Given the description of an element on the screen output the (x, y) to click on. 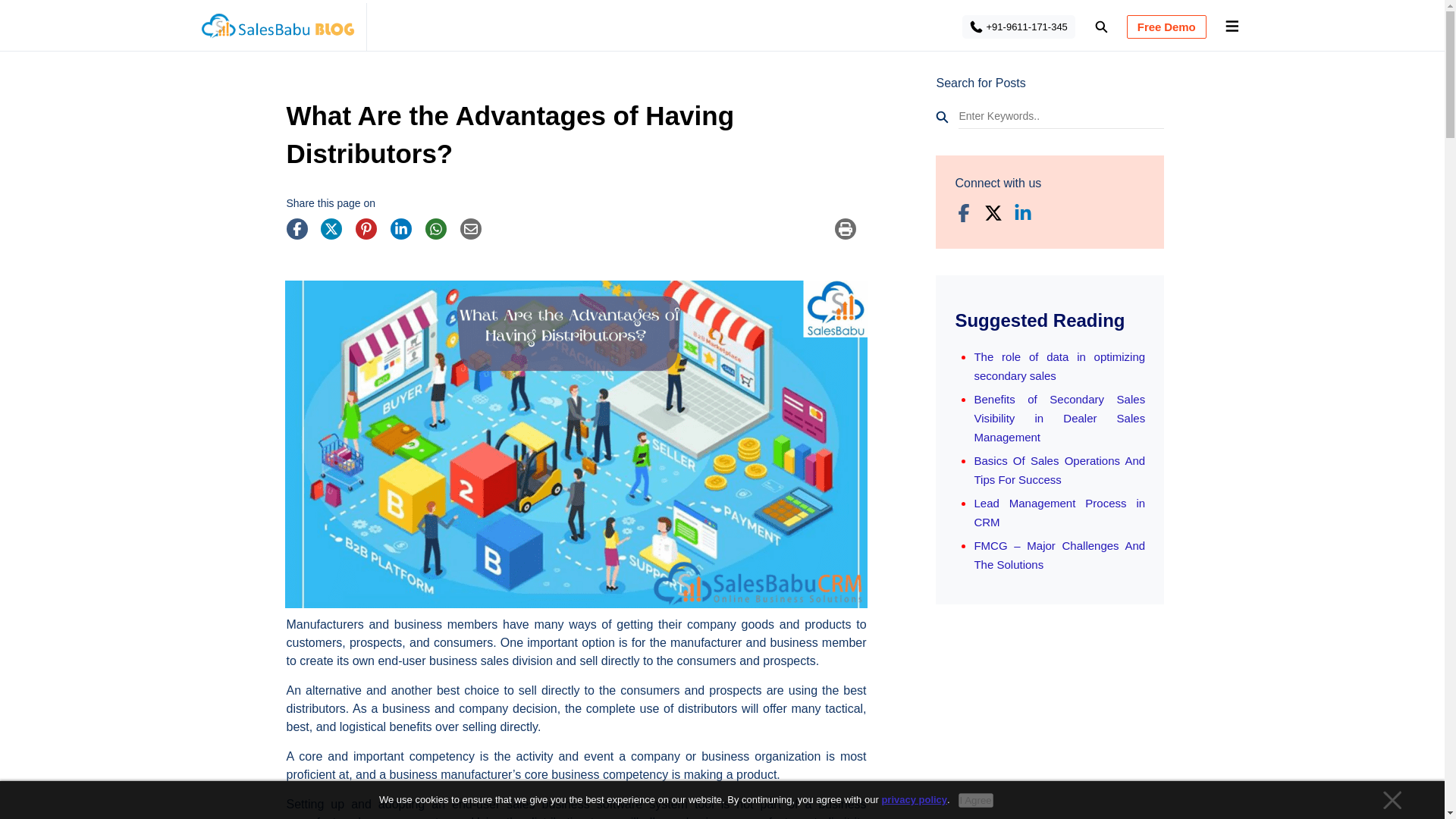
whatsapp (441, 234)
pinterest (371, 234)
SalesBabu BLOG (275, 30)
SalesBabu BLOG (275, 30)
Lead Management Process in CRM (1059, 512)
The role of data in optimizing secondary sales (1059, 366)
linkedin (406, 234)
twitter (336, 234)
print (850, 234)
facebook (302, 234)
Basics Of Sales Operations And Tips For Success (1059, 470)
mailto (476, 234)
Free Demo (1166, 26)
